Given the description of an element on the screen output the (x, y) to click on. 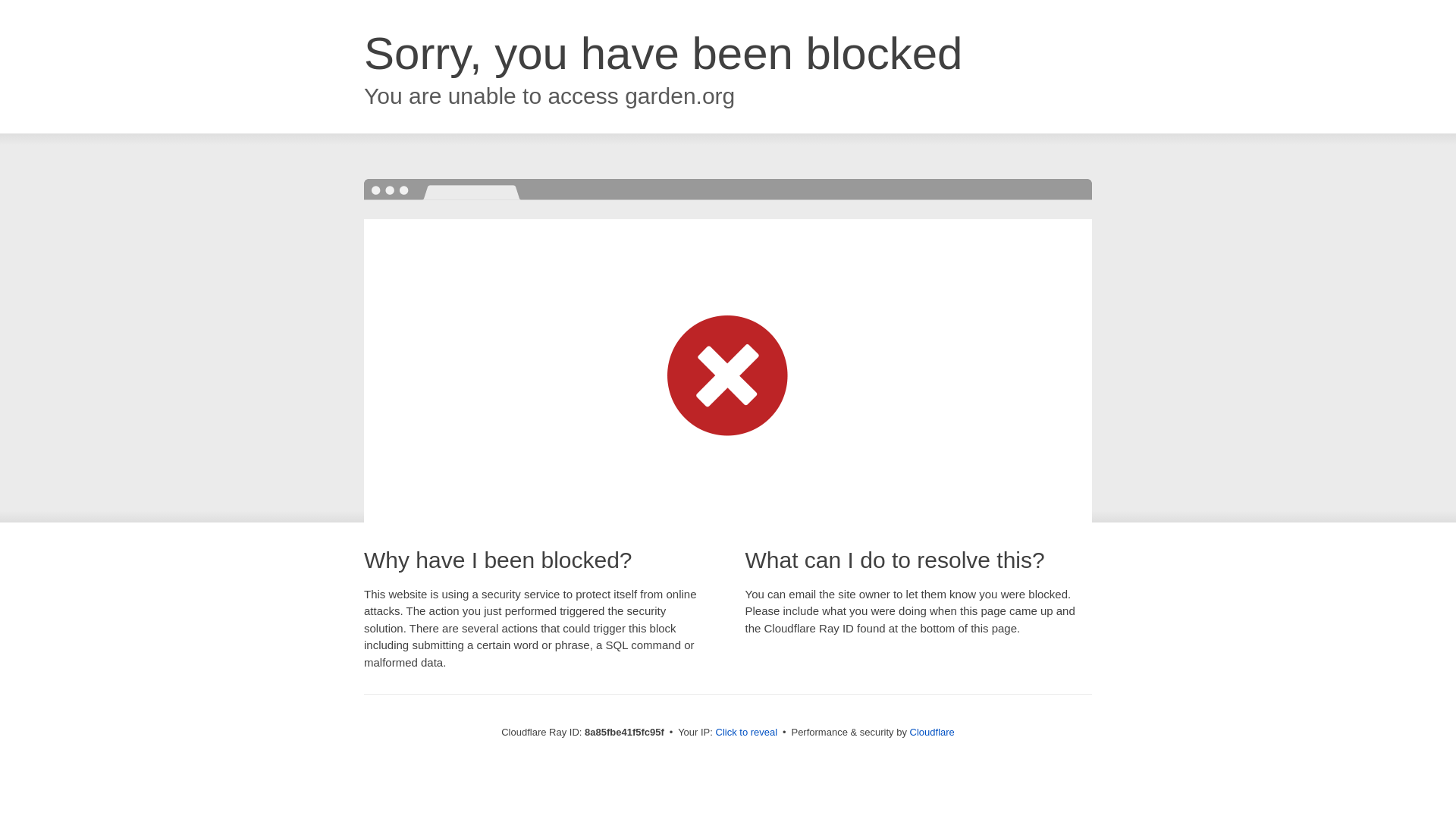
Click to reveal (746, 732)
Cloudflare (932, 731)
